Given the description of an element on the screen output the (x, y) to click on. 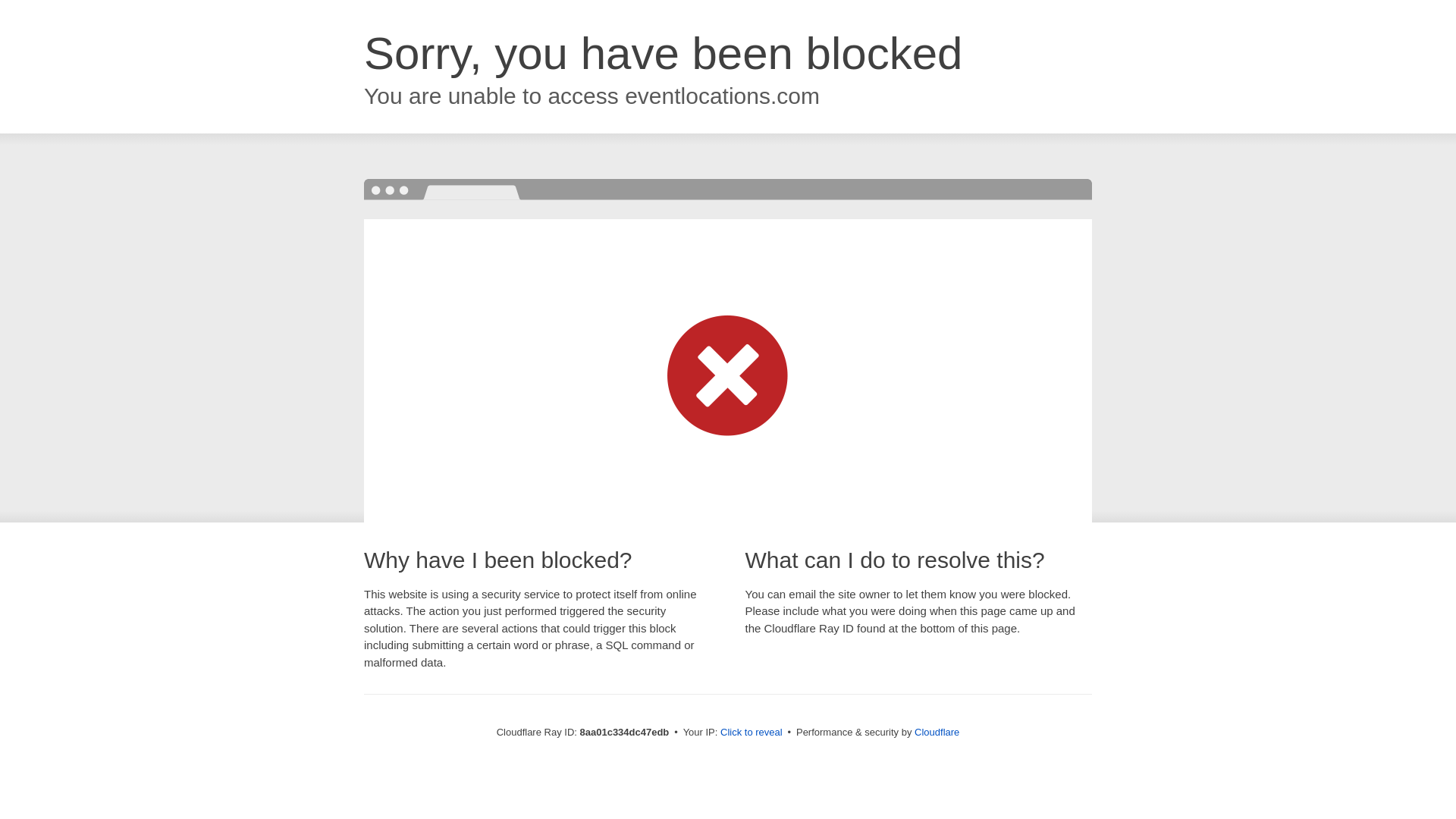
Cloudflare (936, 731)
Click to reveal (751, 732)
